Given the description of an element on the screen output the (x, y) to click on. 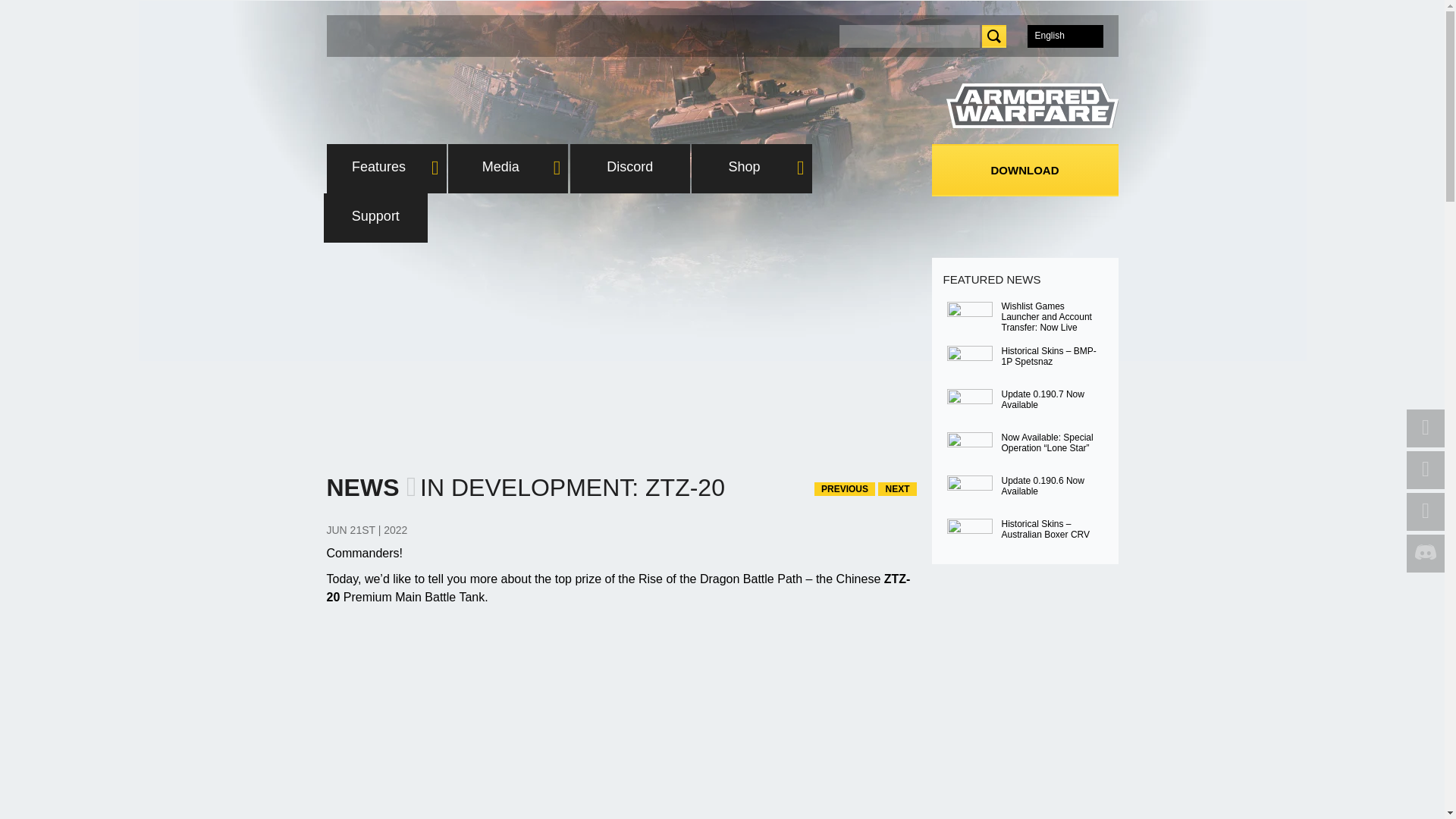
Discord (630, 168)
DOWNLOAD (1024, 170)
English (1064, 35)
Support (375, 217)
NEWS (362, 488)
Armored Warfare (1032, 105)
Features (385, 168)
PREVIOUS (844, 489)
NEXT (896, 489)
In Development: ZTZ-20 (1064, 35)
